Given the description of an element on the screen output the (x, y) to click on. 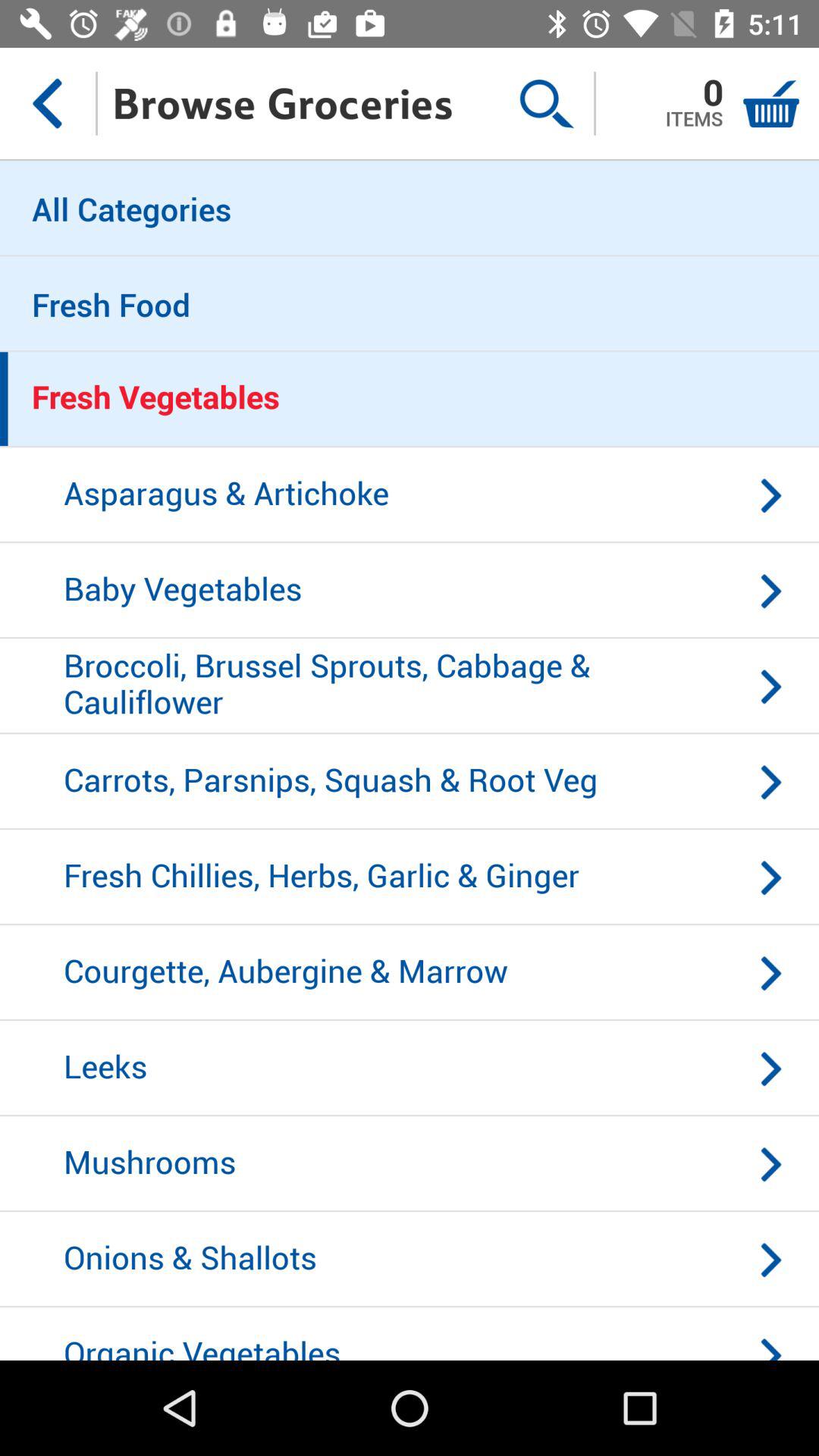
turn off item above the leeks item (409, 972)
